Given the description of an element on the screen output the (x, y) to click on. 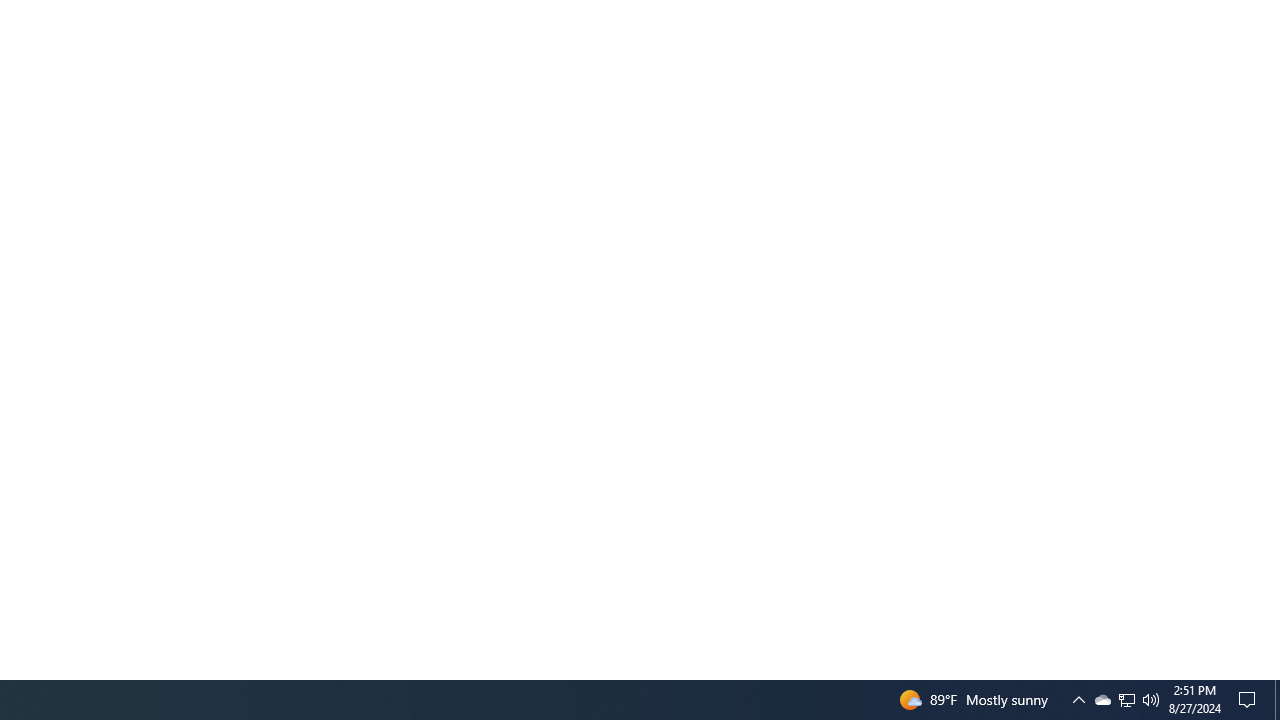
Show desktop (1126, 699)
Action Center, No new notifications (1277, 699)
User Promoted Notification Area (1250, 699)
Q2790: 100% (1126, 699)
Notification Chevron (1151, 699)
